Given the description of an element on the screen output the (x, y) to click on. 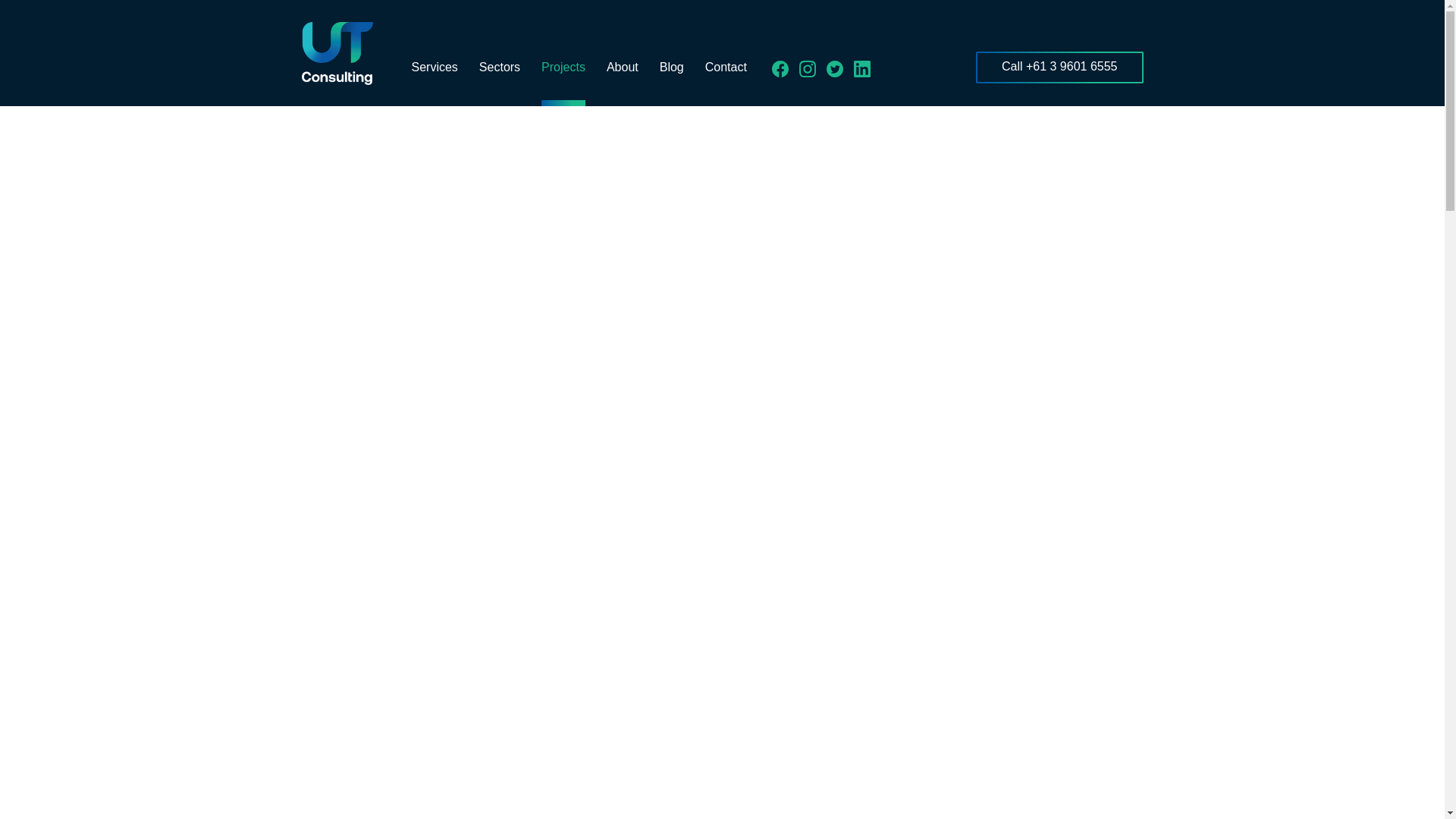
UT Consulting Logo (337, 52)
Services (433, 82)
Projects (563, 82)
